Given the description of an element on the screen output the (x, y) to click on. 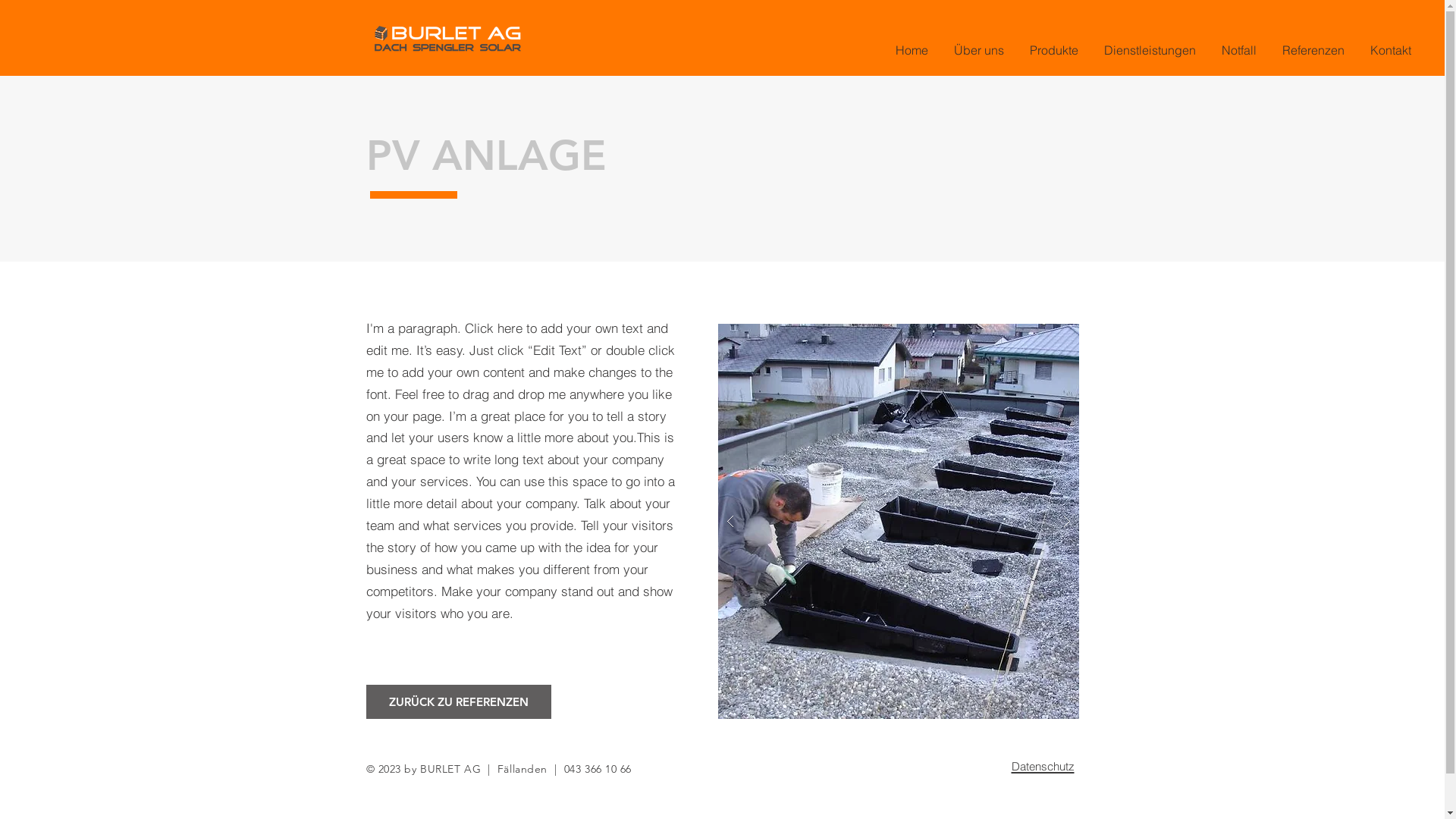
Notfall Element type: text (1244, 50)
Dienstleistungen Element type: text (1155, 50)
Datenschutz Element type: text (1042, 763)
Kontakt Element type: text (1395, 50)
Home Element type: text (917, 50)
Produkte Element type: text (1059, 50)
Referenzen Element type: text (1318, 50)
